Given the description of an element on the screen output the (x, y) to click on. 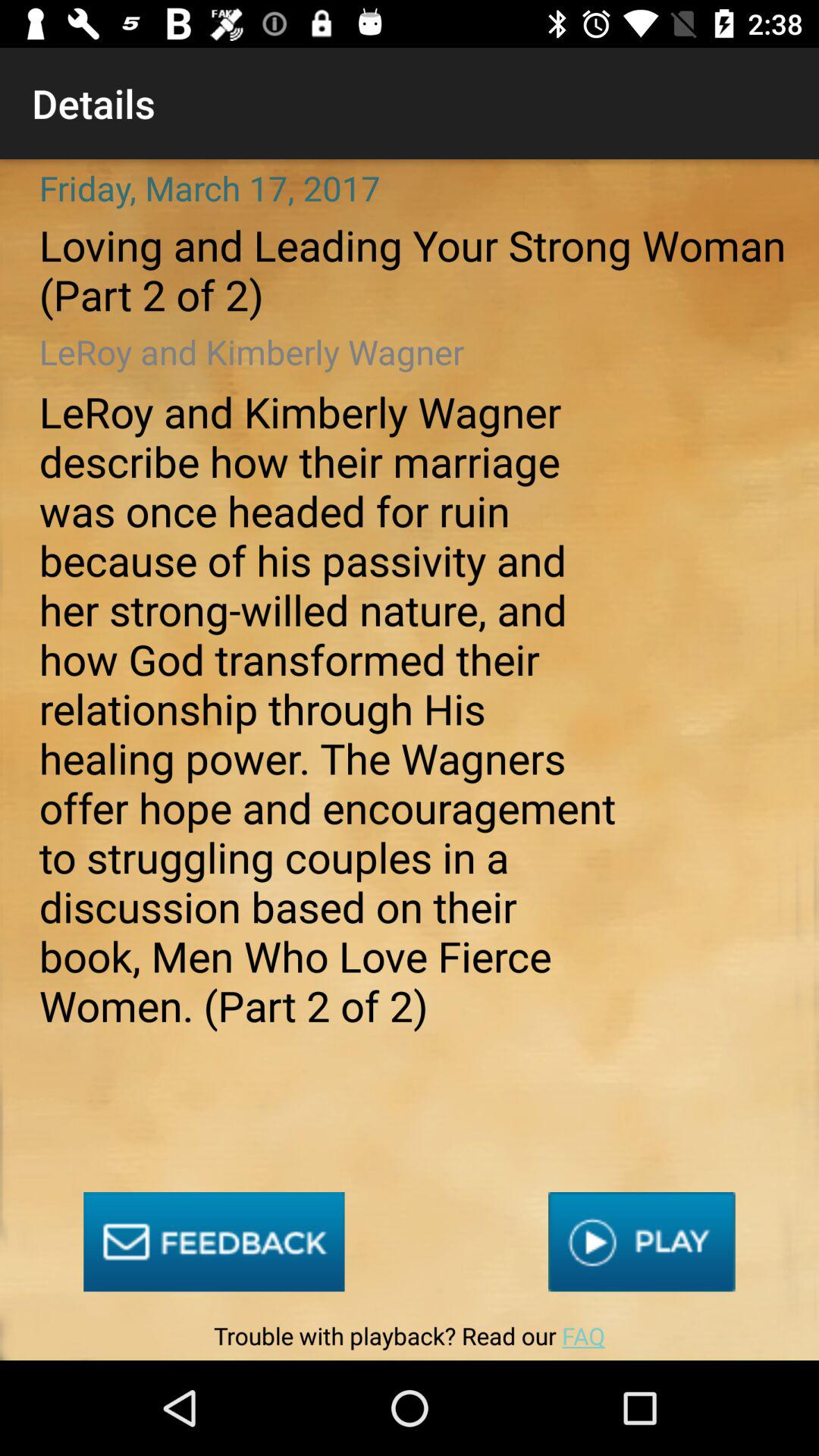
turn on the item below the leroy and kimberly item (641, 1241)
